Given the description of an element on the screen output the (x, y) to click on. 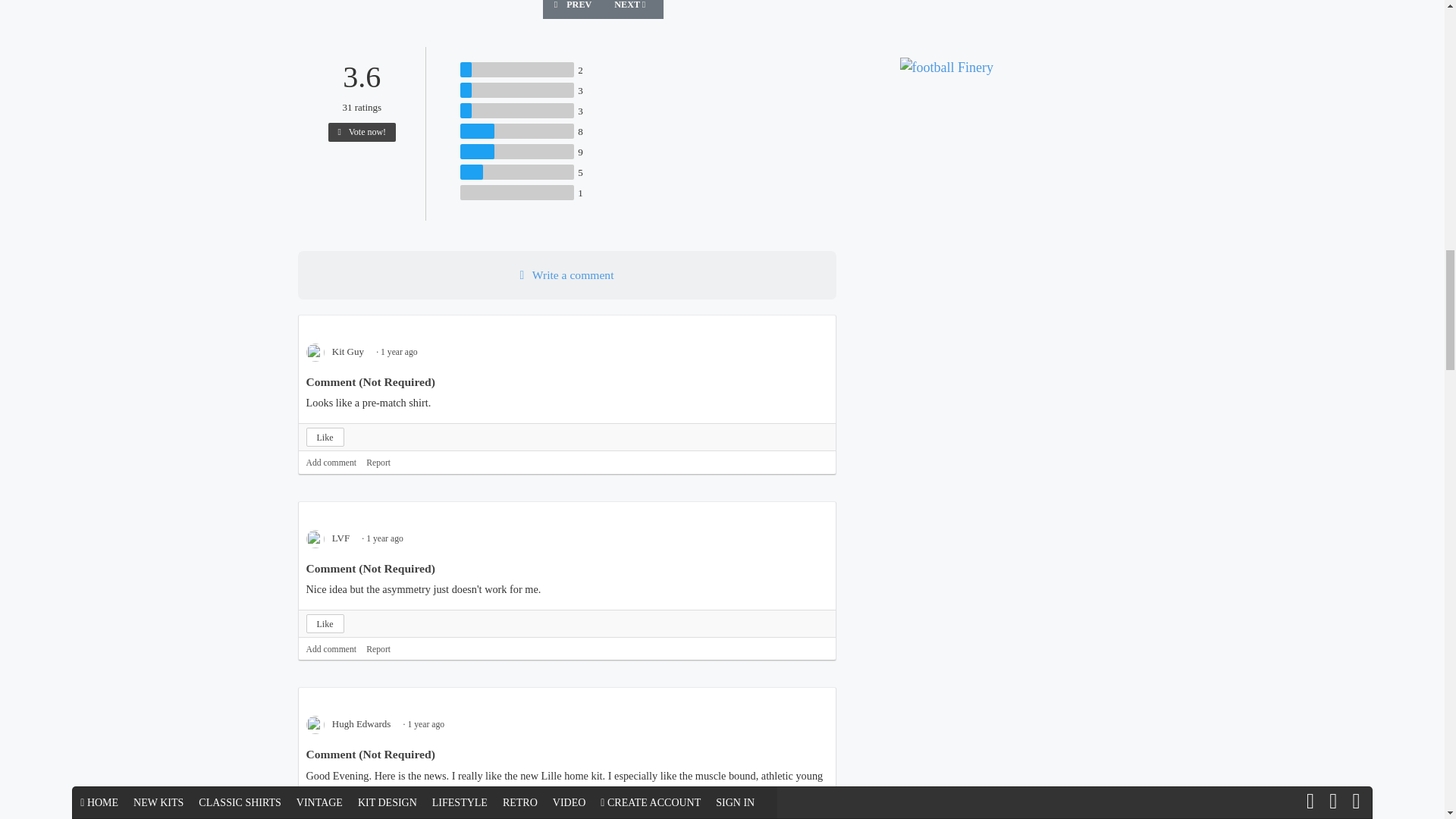
LVF (332, 537)
Hugh Edwards (353, 723)
Kit Guy (339, 351)
